Given the description of an element on the screen output the (x, y) to click on. 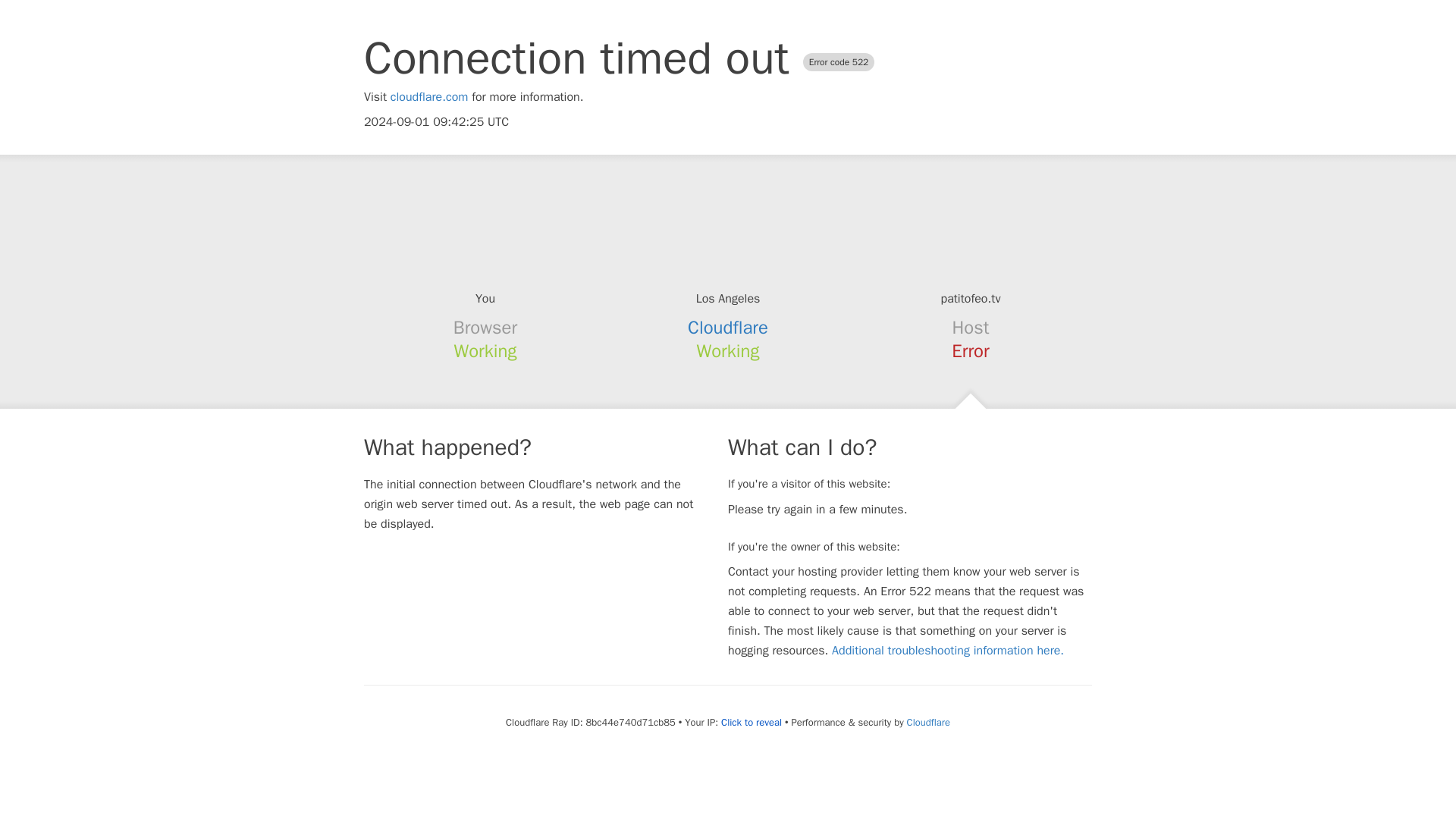
Cloudflare (727, 327)
Click to reveal (750, 722)
cloudflare.com (429, 96)
Additional troubleshooting information here. (947, 650)
Cloudflare (928, 721)
